Given the description of an element on the screen output the (x, y) to click on. 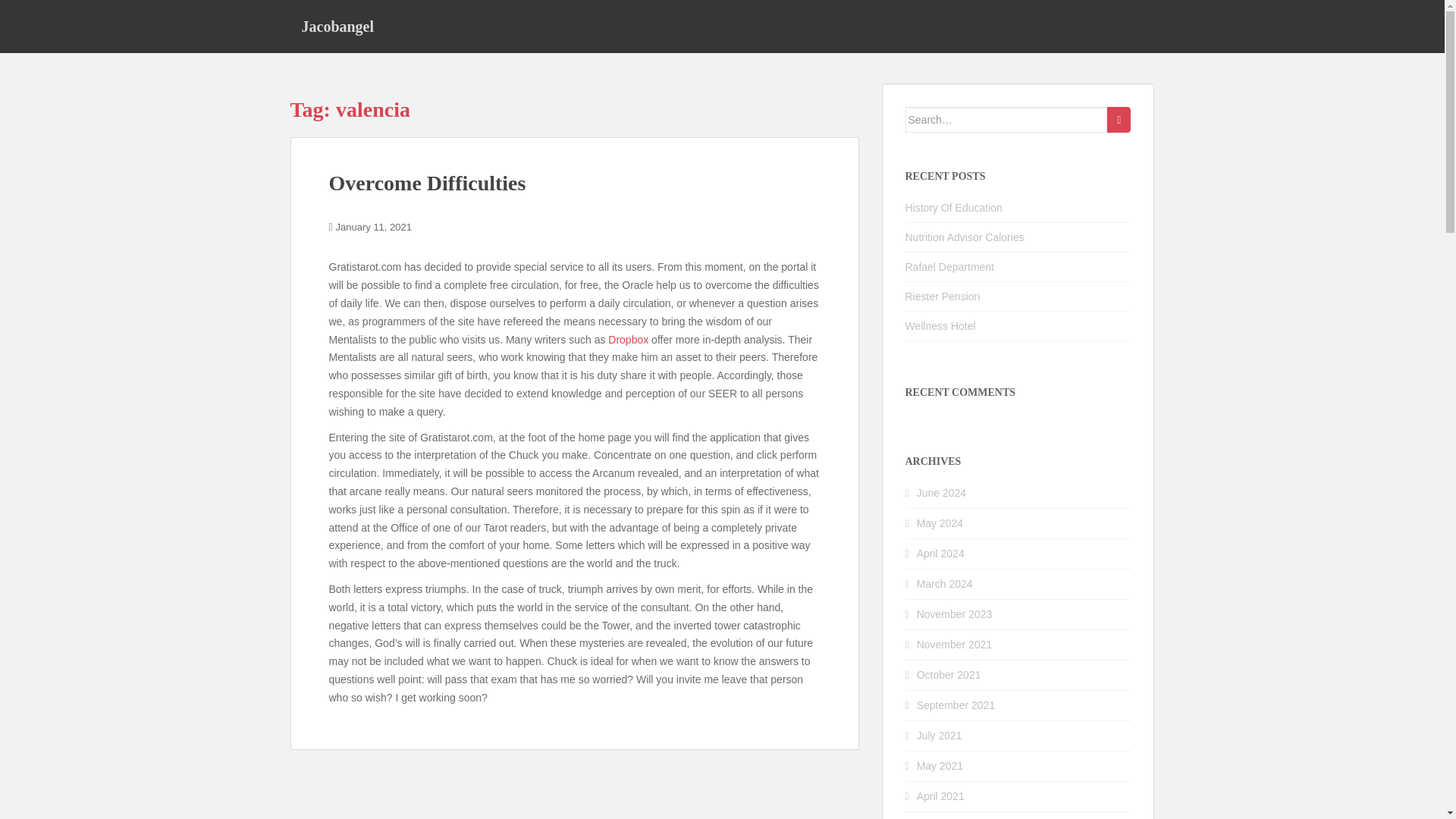
Jacobangel (337, 26)
Riester Pension (942, 296)
Overcome Difficulties (427, 182)
Nutrition Advisor Calories (965, 236)
Jacobangel (337, 26)
Search (1118, 119)
April 2021 (940, 796)
May 2021 (939, 766)
July 2021 (939, 735)
Wellness Hotel (940, 326)
Search for: (1006, 119)
April 2024 (940, 553)
January 11, 2021 (374, 226)
Rafael Department (949, 266)
June 2024 (941, 492)
